Given the description of an element on the screen output the (x, y) to click on. 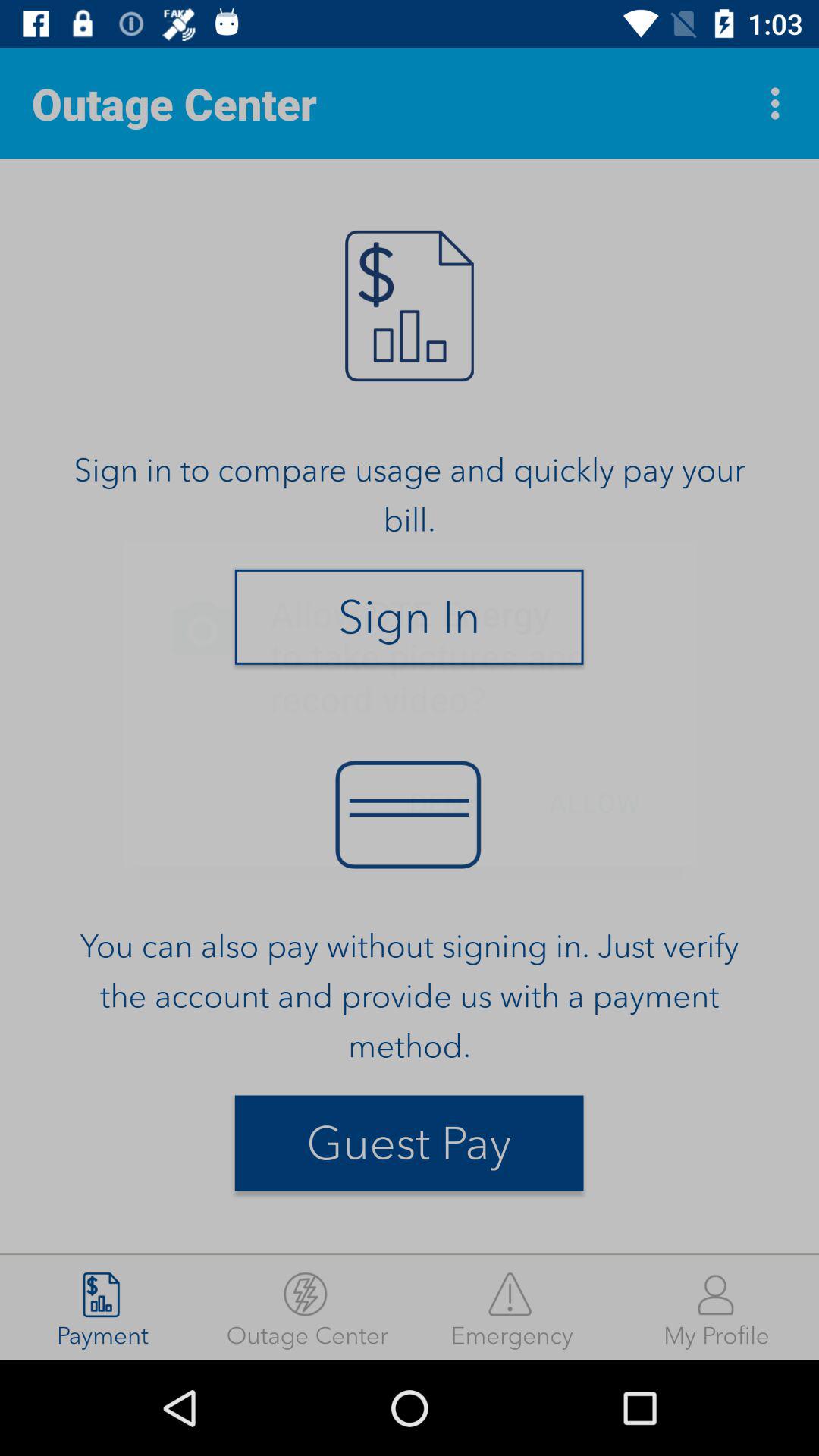
click the icon next to my profile item (511, 1307)
